Given the description of an element on the screen output the (x, y) to click on. 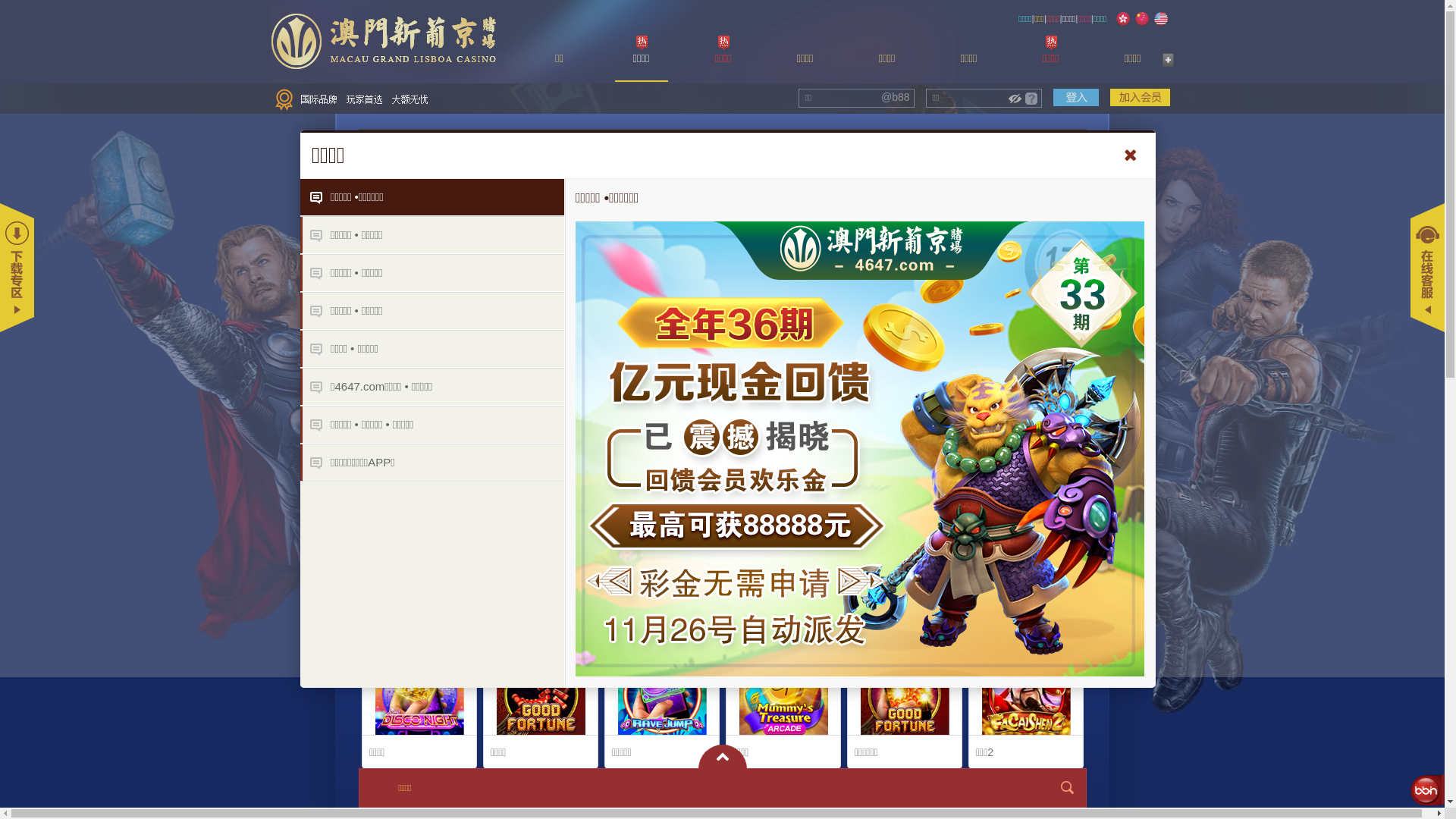
English Element type: hover (1160, 18)
